Given the description of an element on the screen output the (x, y) to click on. 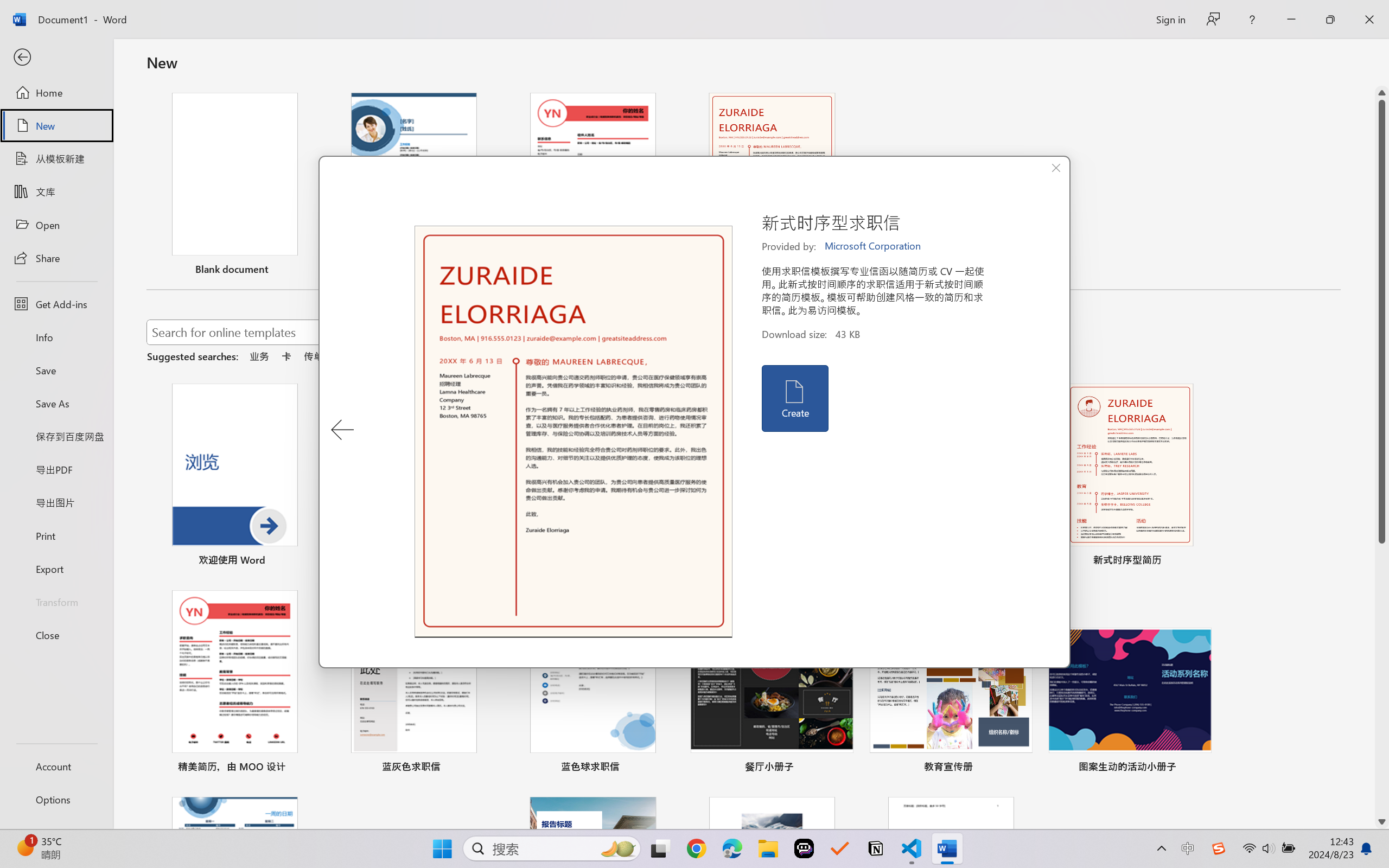
Account (56, 765)
Pin to list (1200, 767)
Options (56, 798)
